Given the description of an element on the screen output the (x, y) to click on. 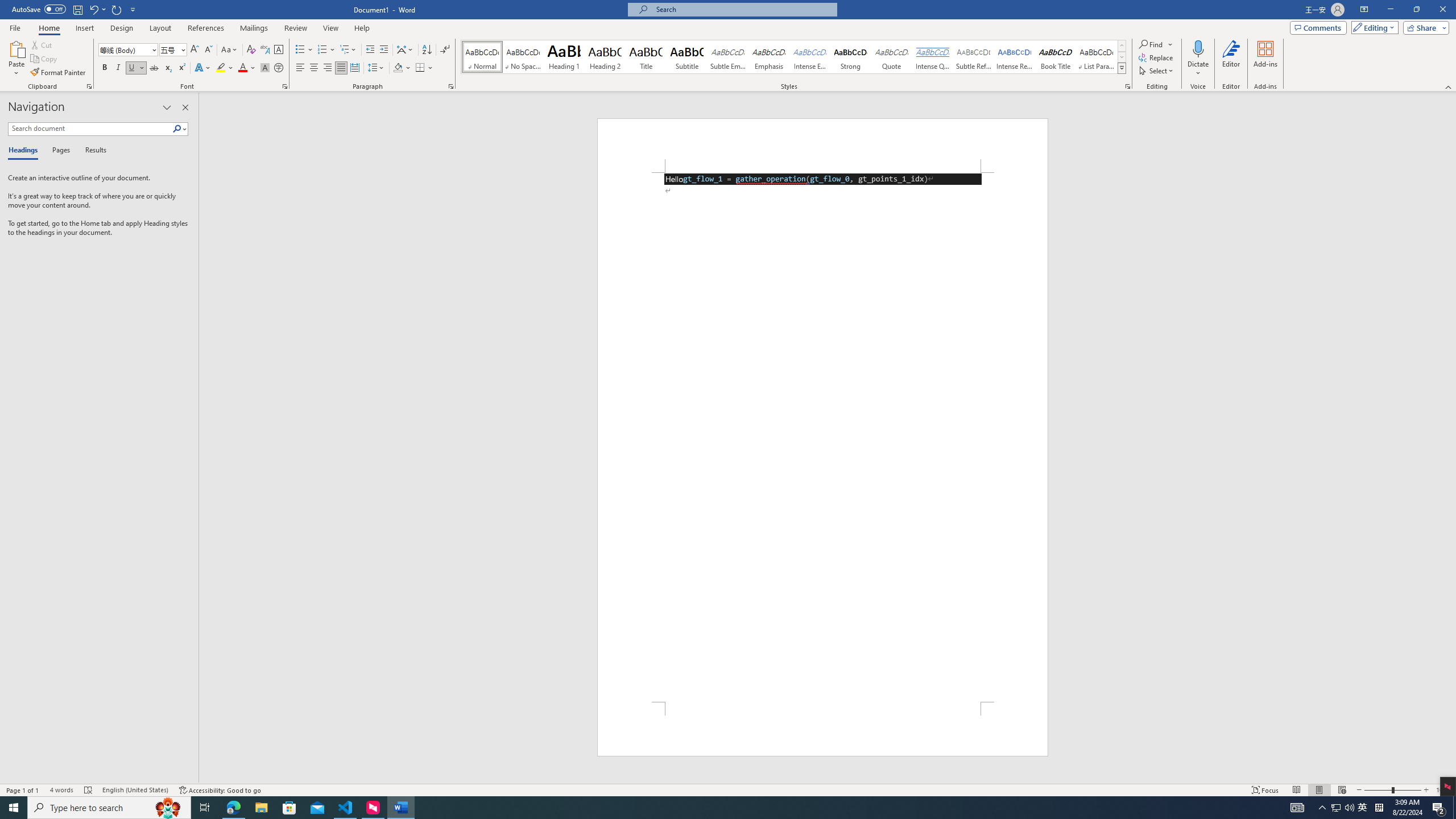
Undo Underline Style (96, 9)
Strikethrough (154, 67)
Select (1157, 69)
Multilevel List (347, 49)
Sort... (426, 49)
Microsoft search (742, 9)
Enclose Characters... (278, 67)
Accessibility Checker Accessibility: Good to go (220, 790)
Undo Underline Style (92, 9)
Page Number Page 1 of 1 (22, 790)
Shading (402, 67)
